Given the description of an element on the screen output the (x, y) to click on. 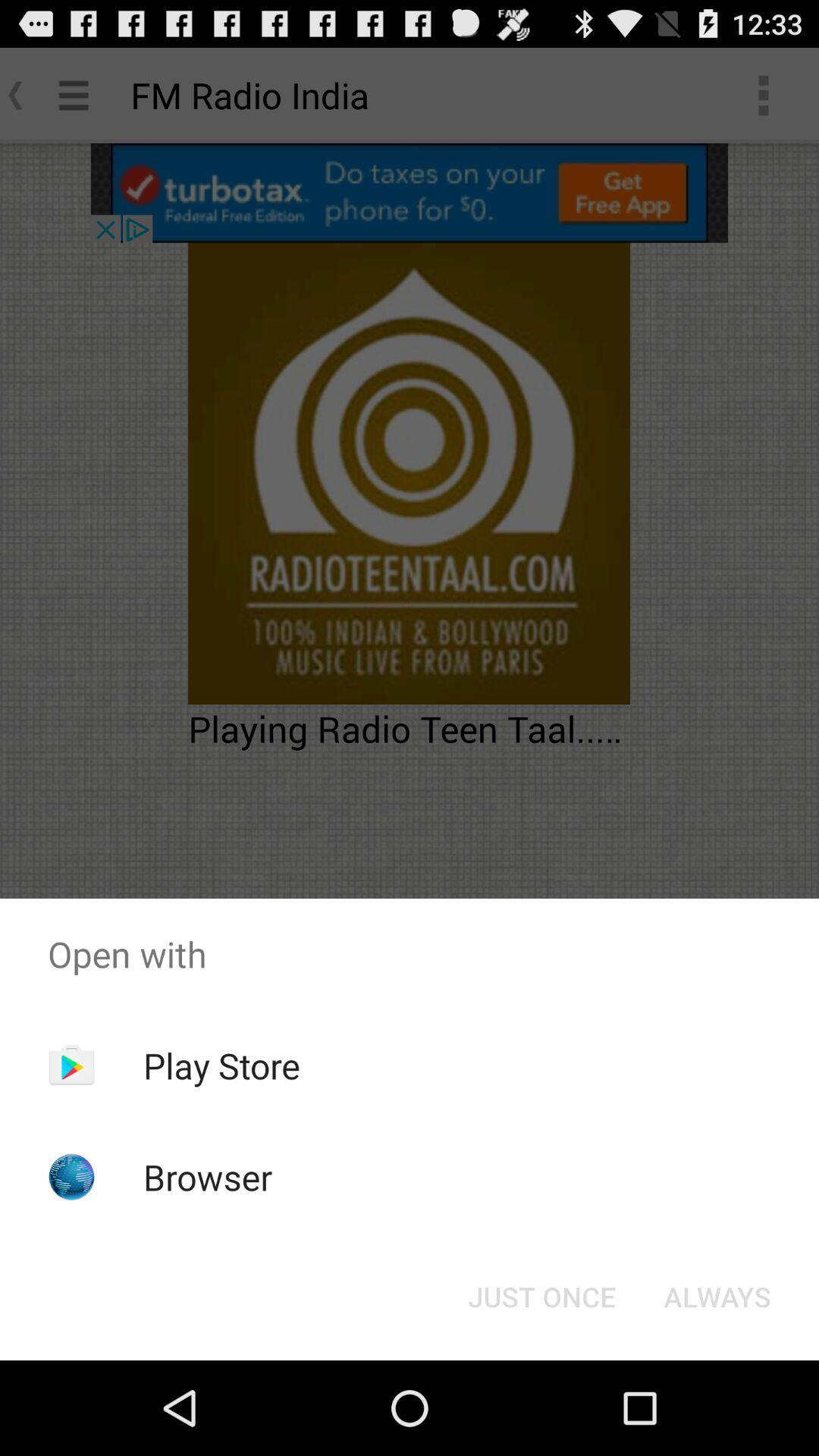
flip to always button (717, 1296)
